Given the description of an element on the screen output the (x, y) to click on. 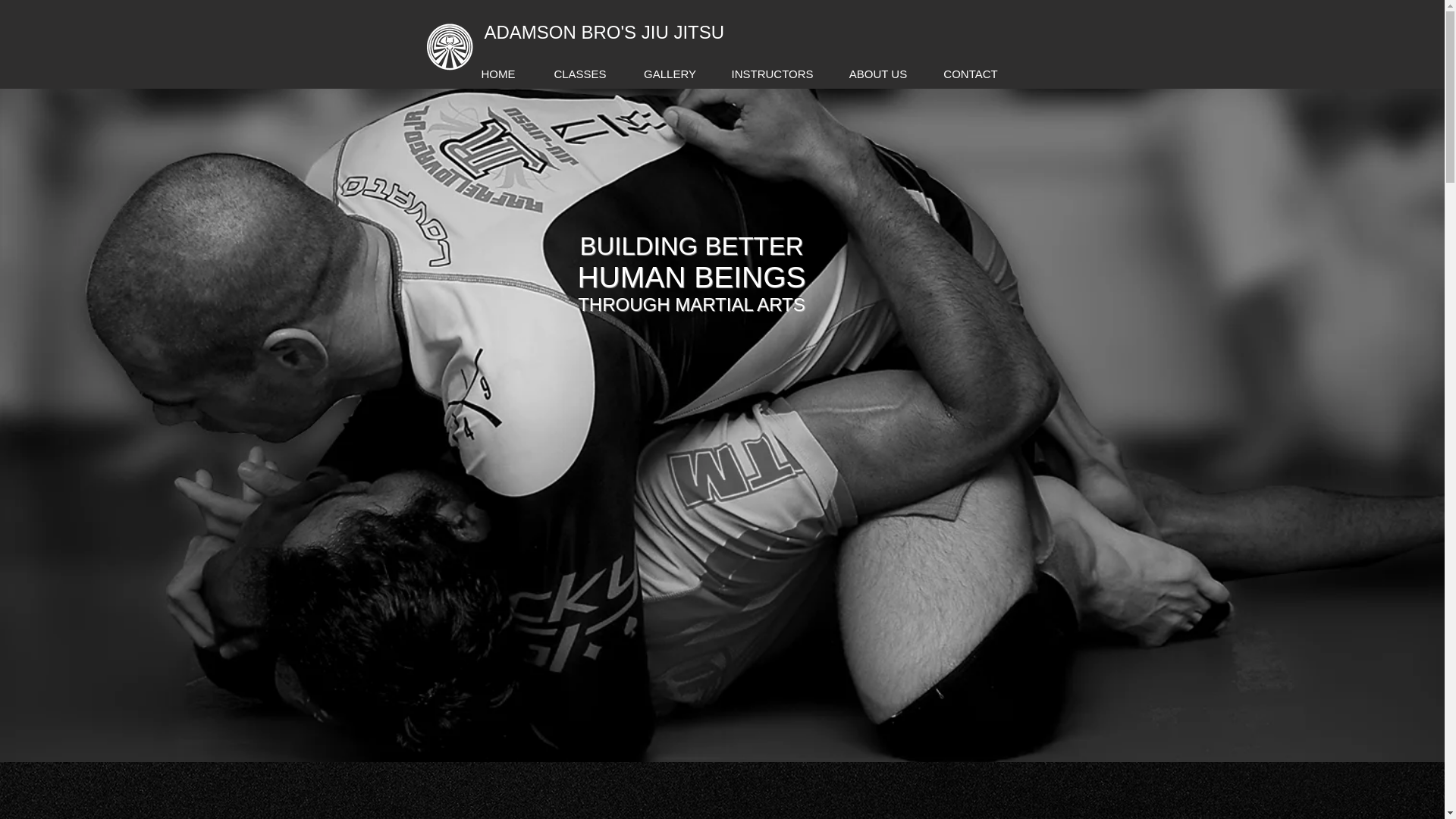
GALLERY (669, 74)
INSTRUCTORS (771, 74)
CLASSES (580, 74)
HOME (497, 74)
ABOUT US (877, 74)
CONTACT (970, 74)
